Given the description of an element on the screen output the (x, y) to click on. 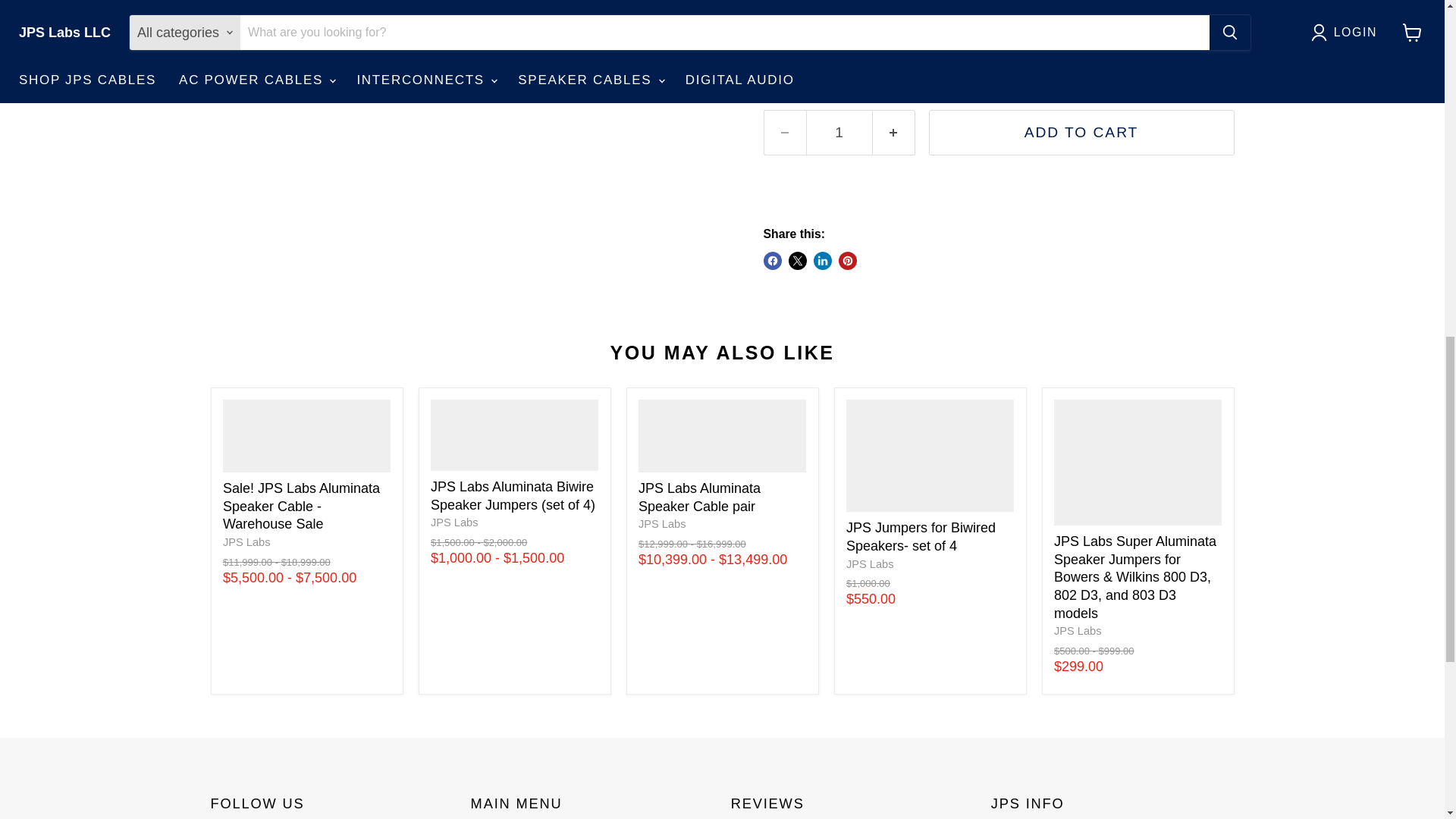
JPS Labs (454, 522)
JPS Labs (869, 563)
JPS Labs (1078, 630)
1 (838, 132)
JPS Labs (662, 523)
JPS Labs (246, 541)
